Given the description of an element on the screen output the (x, y) to click on. 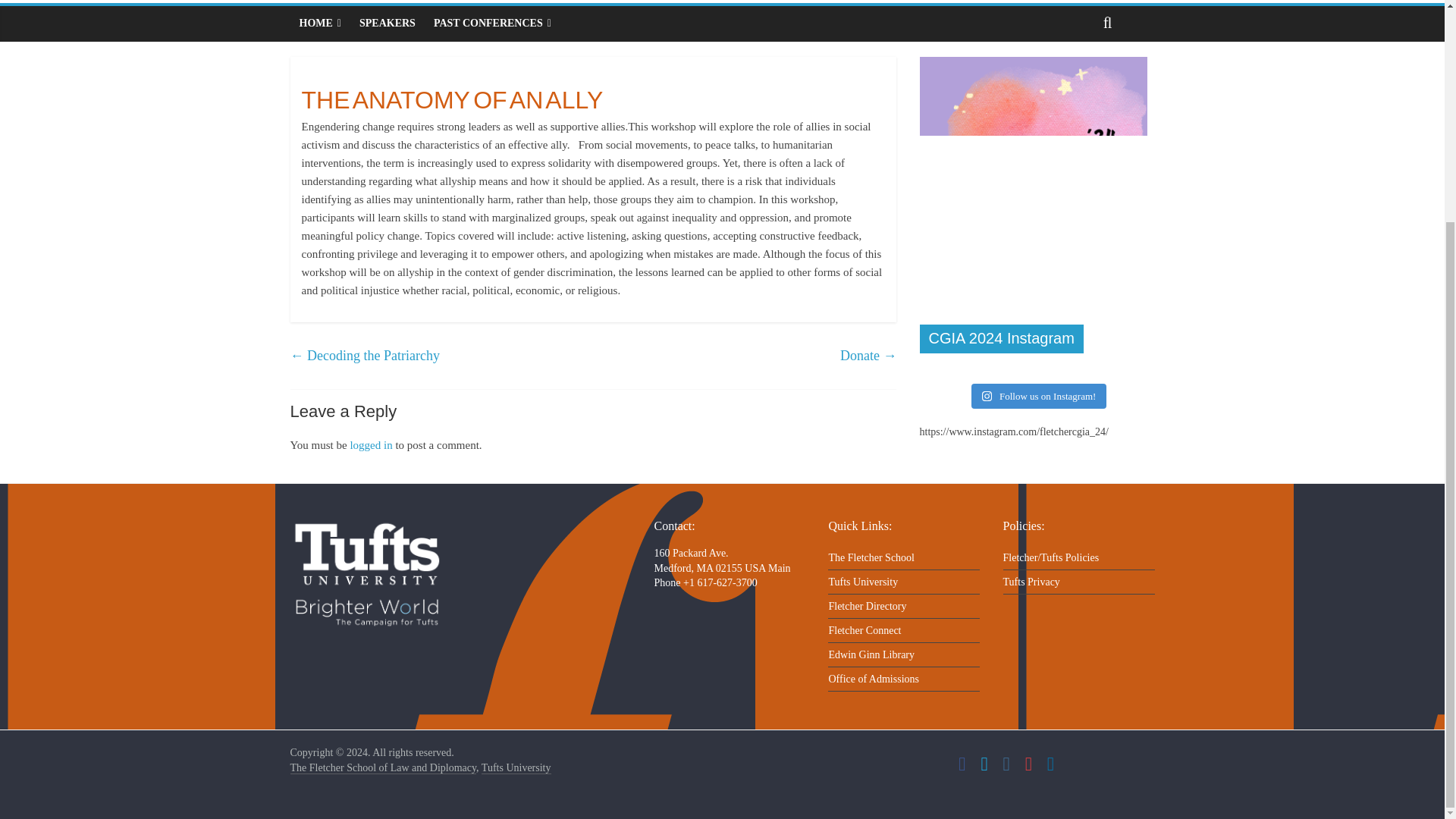
Tufts University (516, 767)
SPEAKERS (387, 22)
HOME (319, 22)
PAST CONFERENCES (492, 22)
The Fletcher School (382, 767)
